Given the description of an element on the screen output the (x, y) to click on. 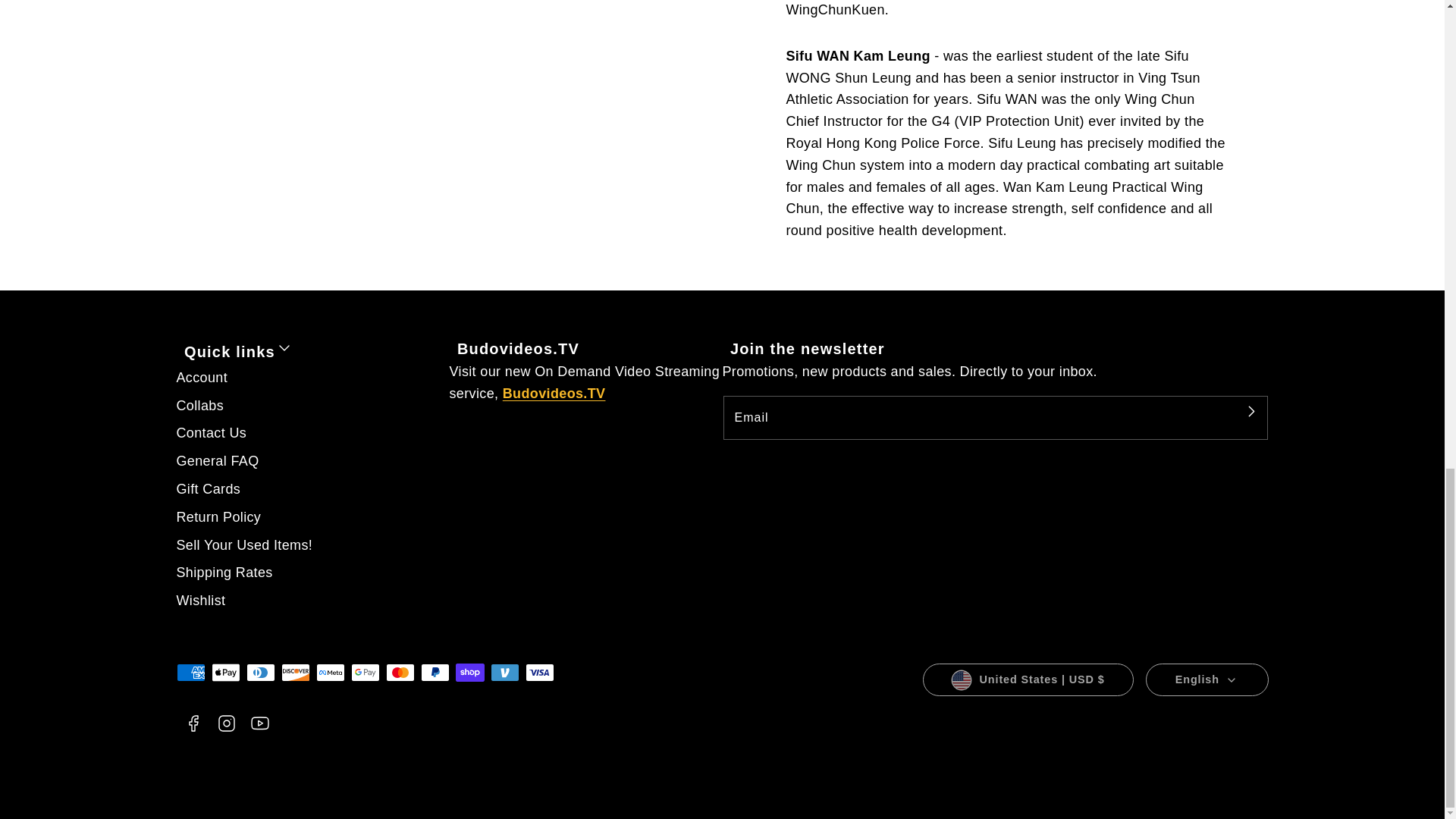
Shop Pay (468, 672)
Meta Pay (329, 672)
Google Pay (364, 672)
PayPal (434, 672)
Visa (538, 672)
American Express (190, 672)
Mastercard (399, 672)
Discover (294, 672)
Apple Pay (225, 672)
Diners Club (260, 672)
Venmo (503, 672)
